Given the description of an element on the screen output the (x, y) to click on. 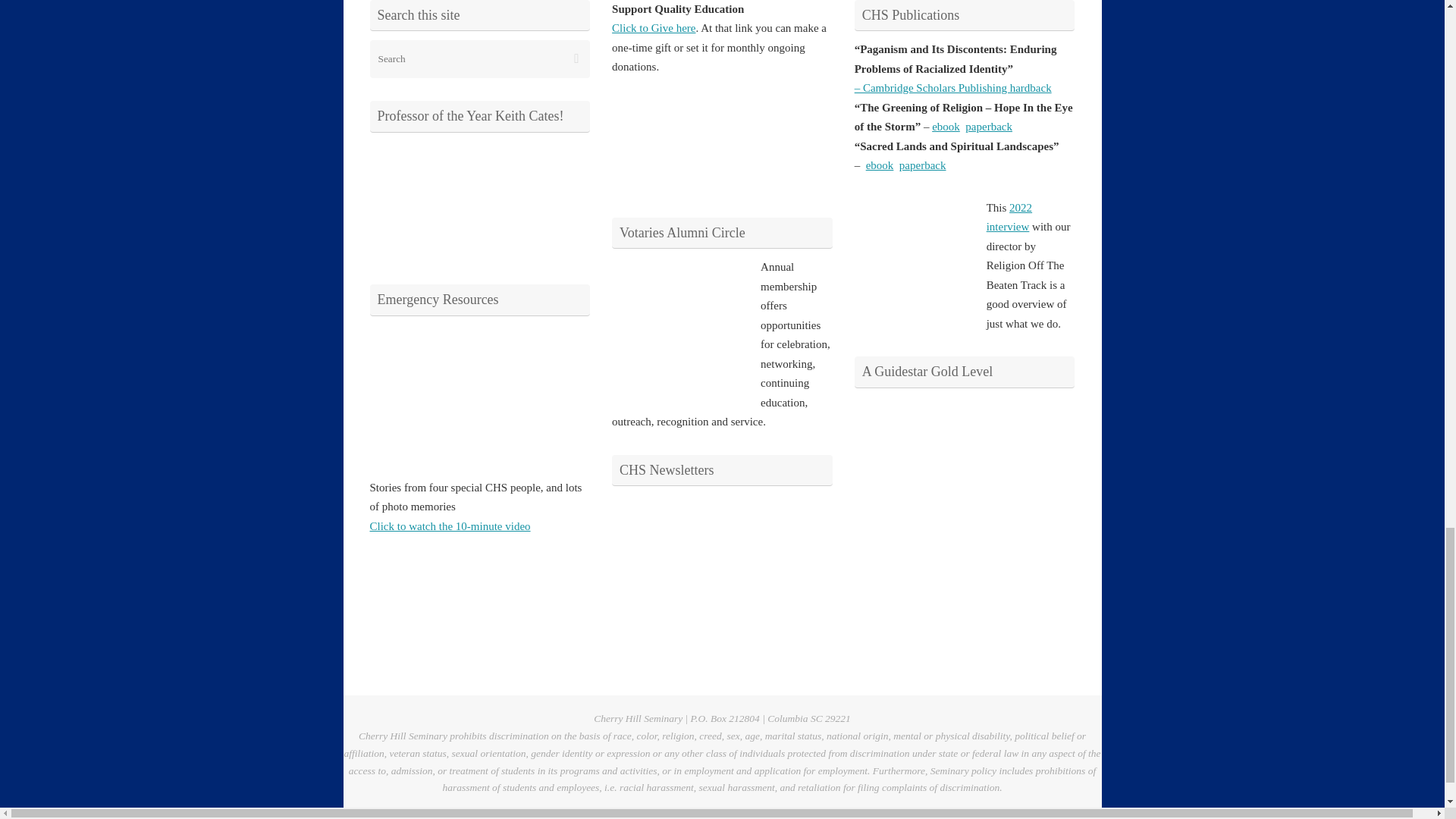
Tempera Theme by Cryout Creations (1008, 814)
A Guidestar Gold Level (911, 454)
Professor of the Year Amy Beltaine! (426, 198)
Semantic Personal Publishing Platform (1062, 814)
